Given the description of an element on the screen output the (x, y) to click on. 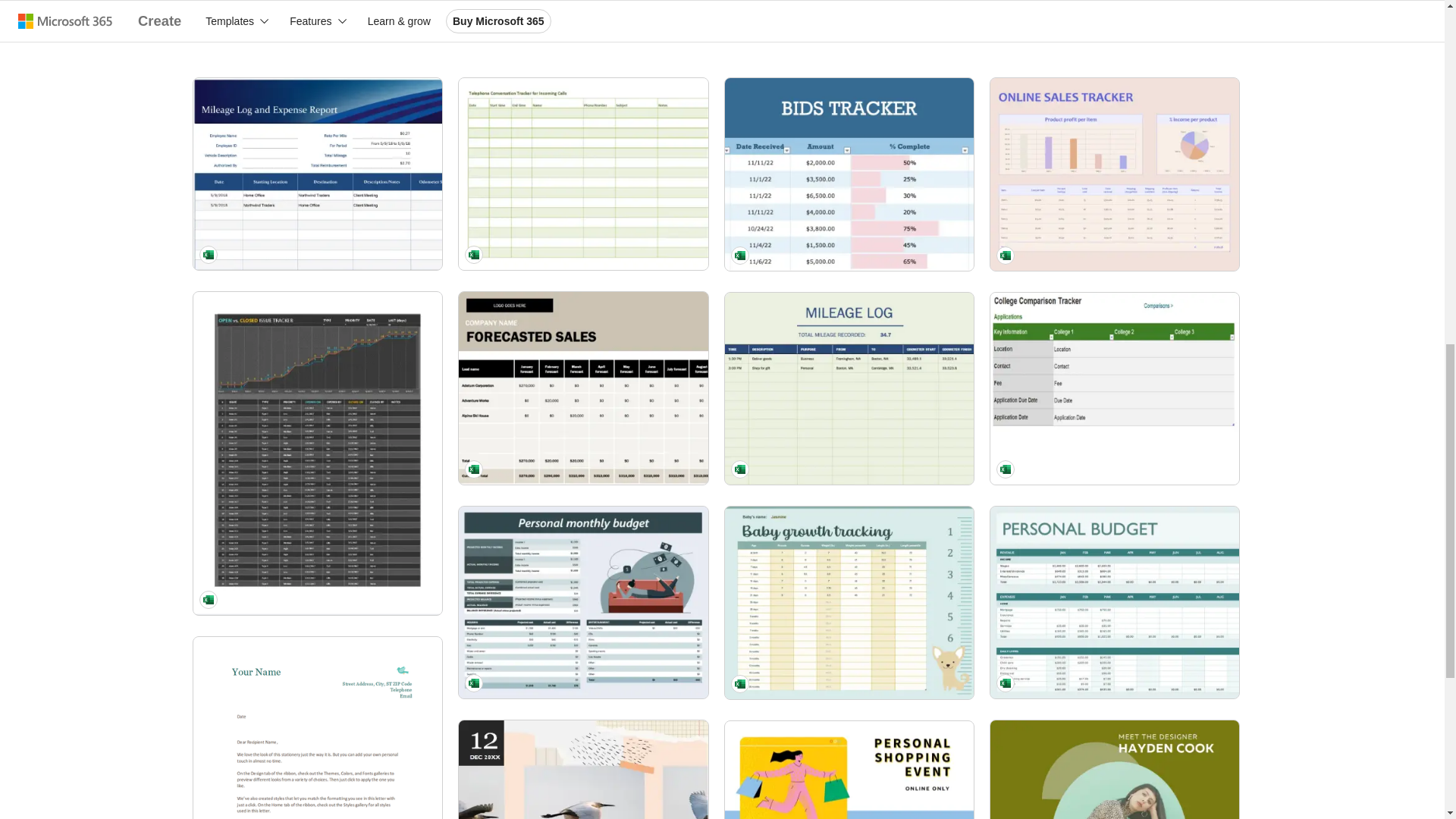
Simple personal budget blue modern-simple (1114, 602)
Personal ad blue modern-simple (849, 770)
College comparison tracker green modern-simple (1114, 388)
Mileage log green modern simple (849, 388)
Basic mileage and expense report blue modern simple (317, 173)
Baby growth tracker green whimsical color block (849, 602)
Bid tracker blue modern simple (849, 174)
Online sales tracker modern-simple (1114, 174)
Personal letterhead modern-simple (317, 728)
Personal monthly budget spreadsheet green modern-simple (582, 602)
Small business sales lead tracker brown modern simple (582, 387)
Personal journal grey organic boho (582, 769)
